Given the description of an element on the screen output the (x, y) to click on. 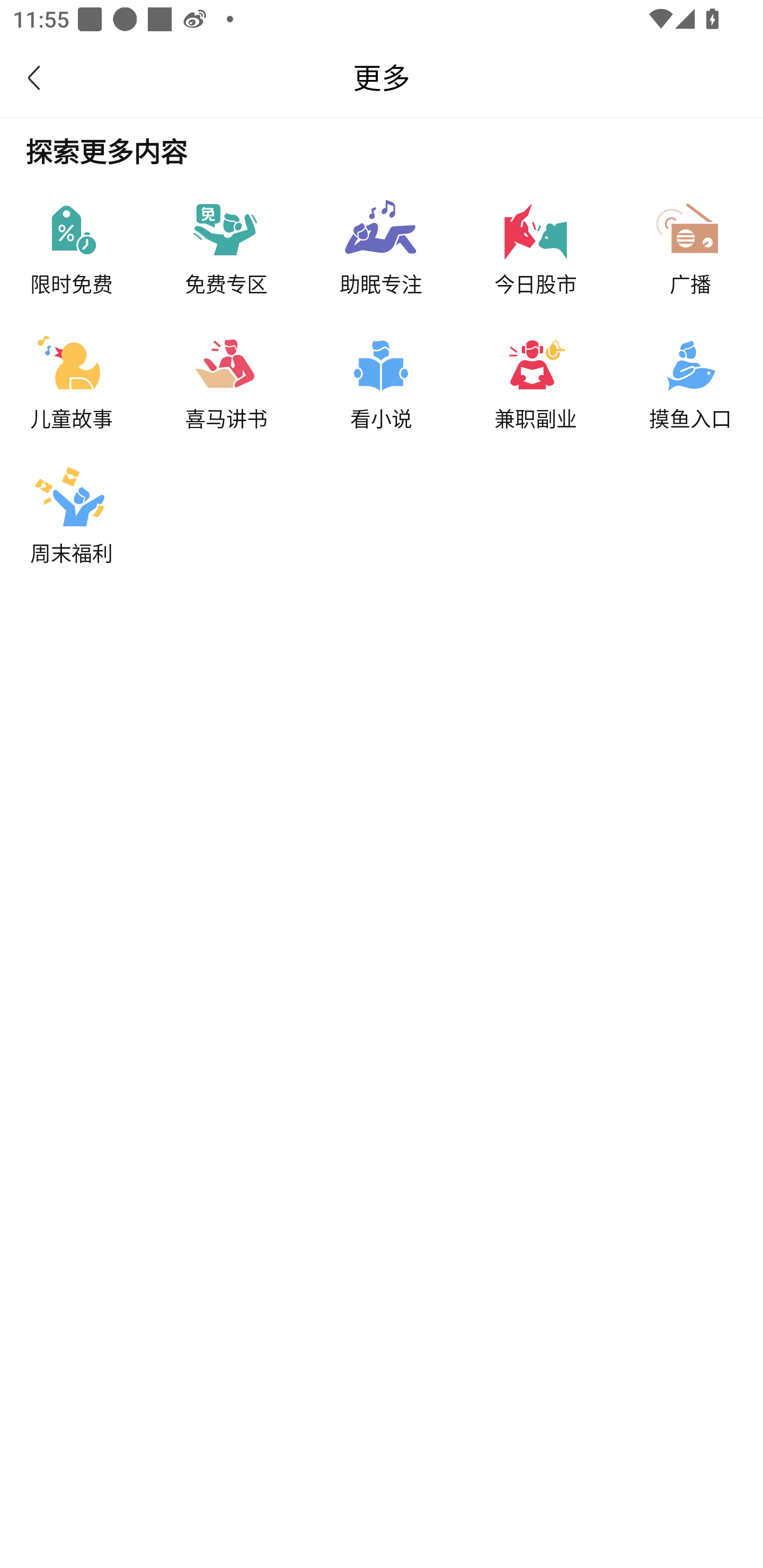
返回 (43, 77)
更多 (381, 77)
限时免费 (90, 239)
免费专区 (257, 239)
助眠专注 (411, 239)
今日股市 (566, 239)
广播 (702, 239)
儿童故事 (90, 374)
喜马讲书 (257, 374)
看小说 (411, 374)
兼职副业 (566, 374)
摸鱼入口 (702, 374)
周末福利 (90, 508)
